Given the description of an element on the screen output the (x, y) to click on. 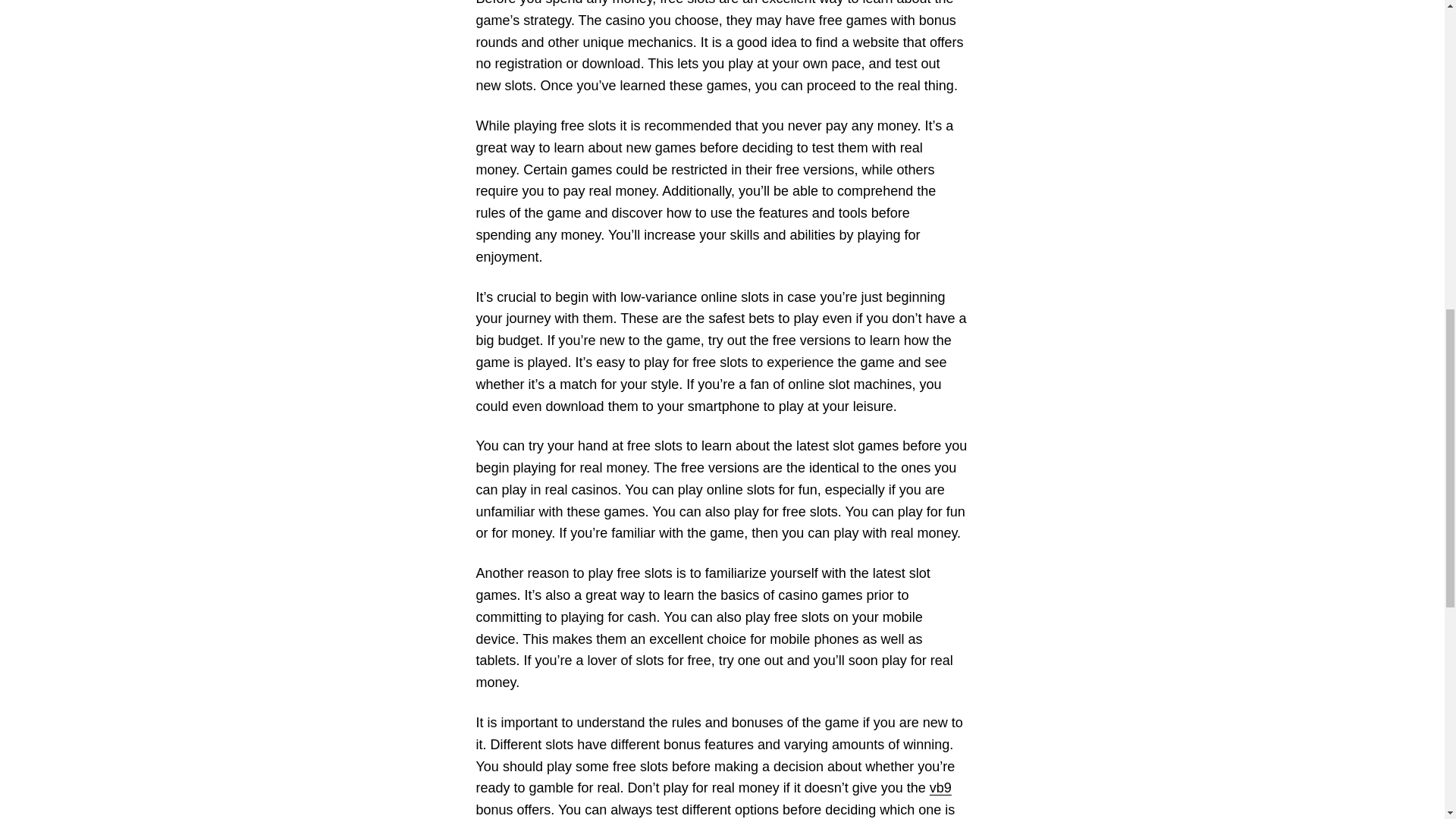
vb9 (941, 787)
